Given the description of an element on the screen output the (x, y) to click on. 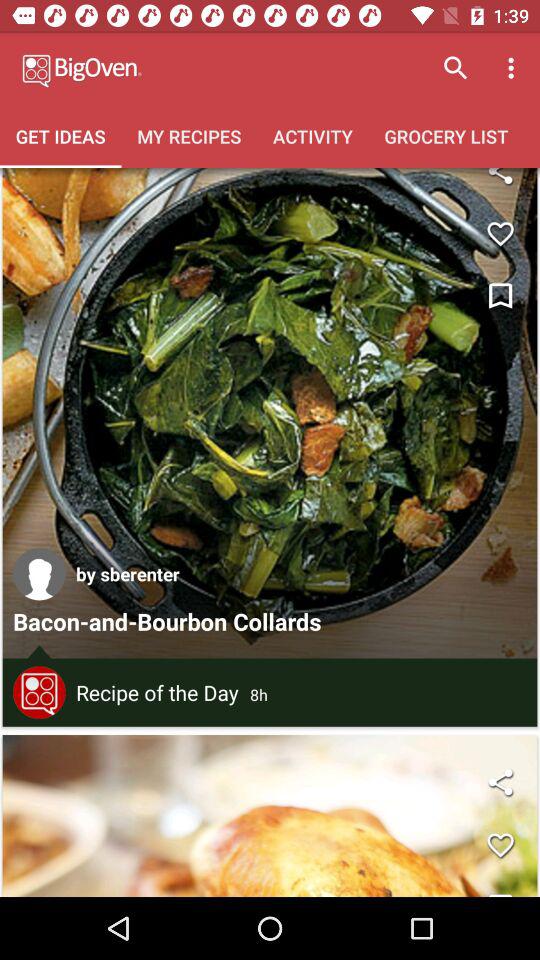
share article (500, 182)
